Given the description of an element on the screen output the (x, y) to click on. 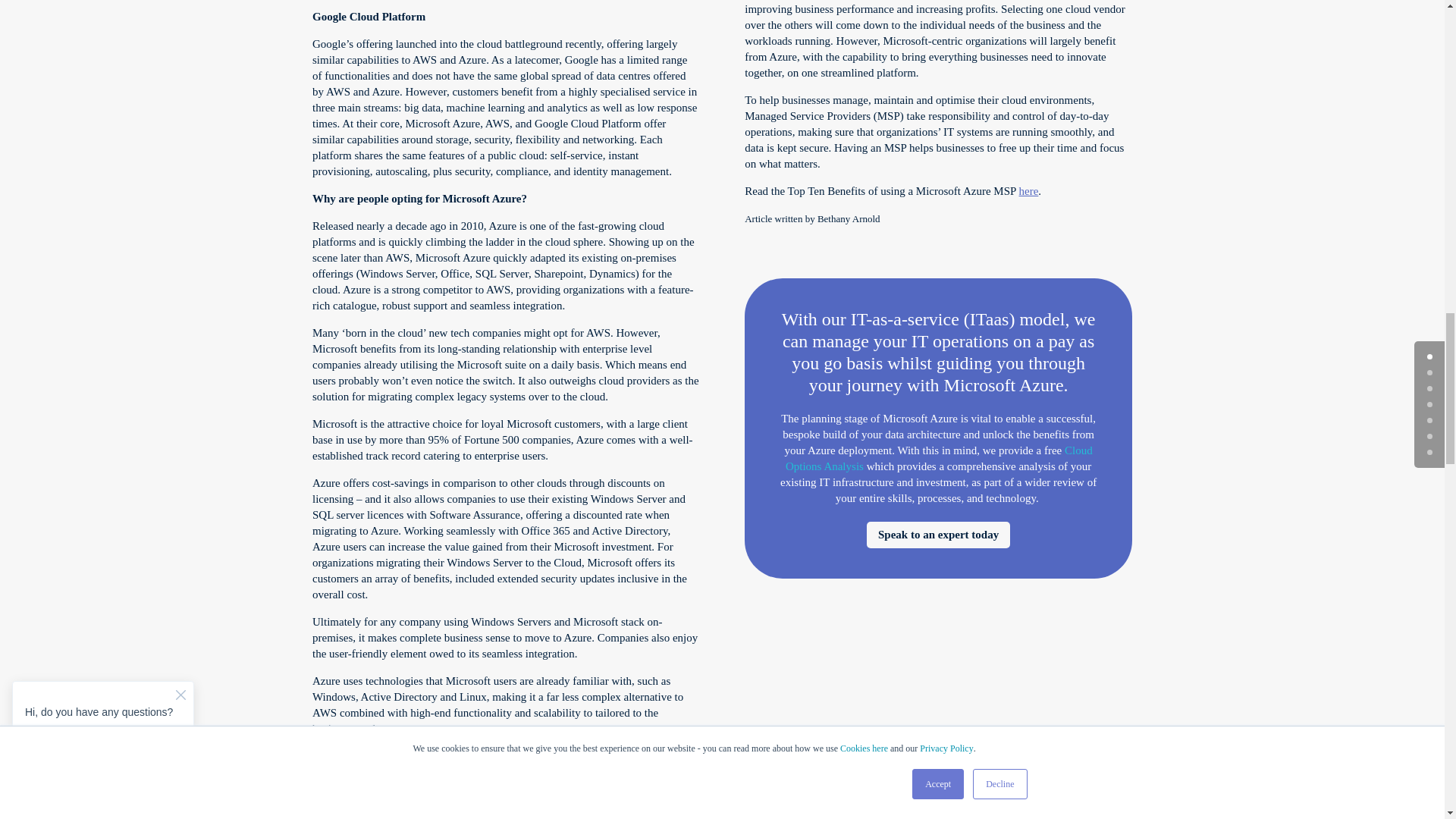
Speak to an expert today (938, 534)
here (1029, 191)
Cloud Options Analysis (939, 458)
